Given the description of an element on the screen output the (x, y) to click on. 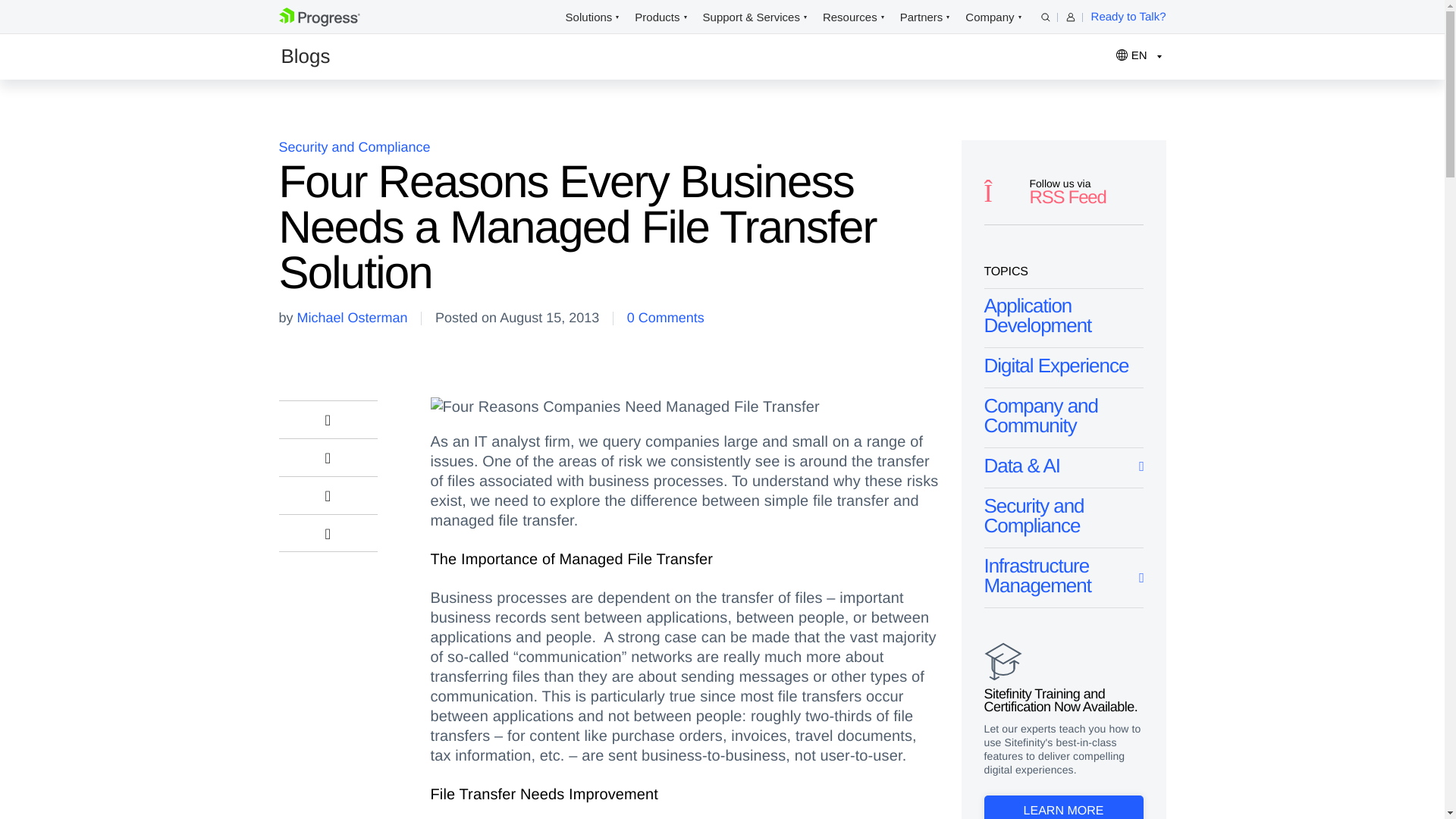
Solutions (589, 17)
Search (1045, 17)
Products (656, 17)
SKIP NAVIGATION (343, 17)
Progress (319, 22)
Progress (319, 16)
